Given the description of an element on the screen output the (x, y) to click on. 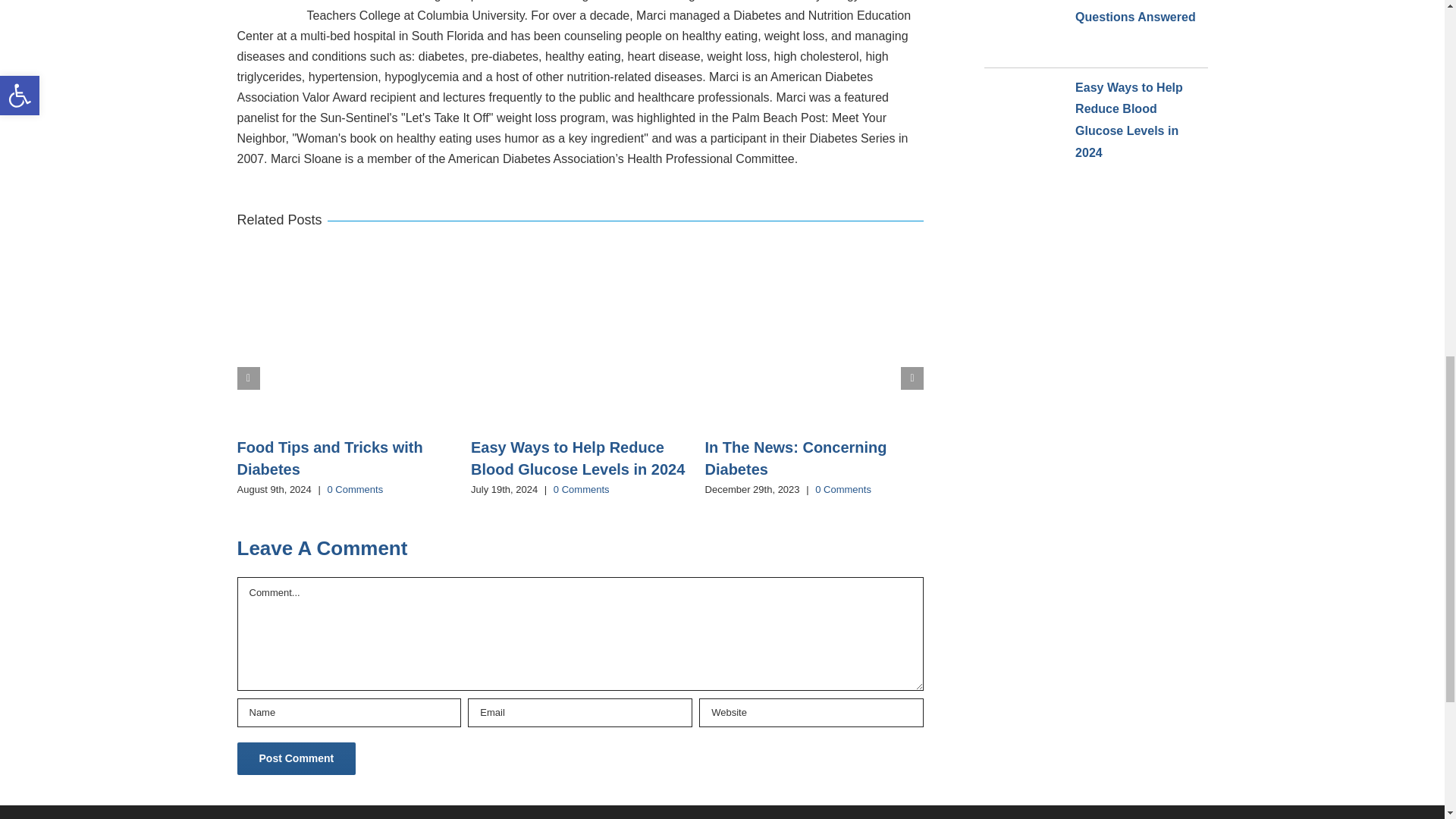
Food Tips and Tricks with Diabetes (328, 457)
In The News: Concerning Diabetes (795, 457)
Easy Ways to Help Reduce Blood Glucose Levels in 2024 (577, 457)
Post Comment (295, 758)
